Given the description of an element on the screen output the (x, y) to click on. 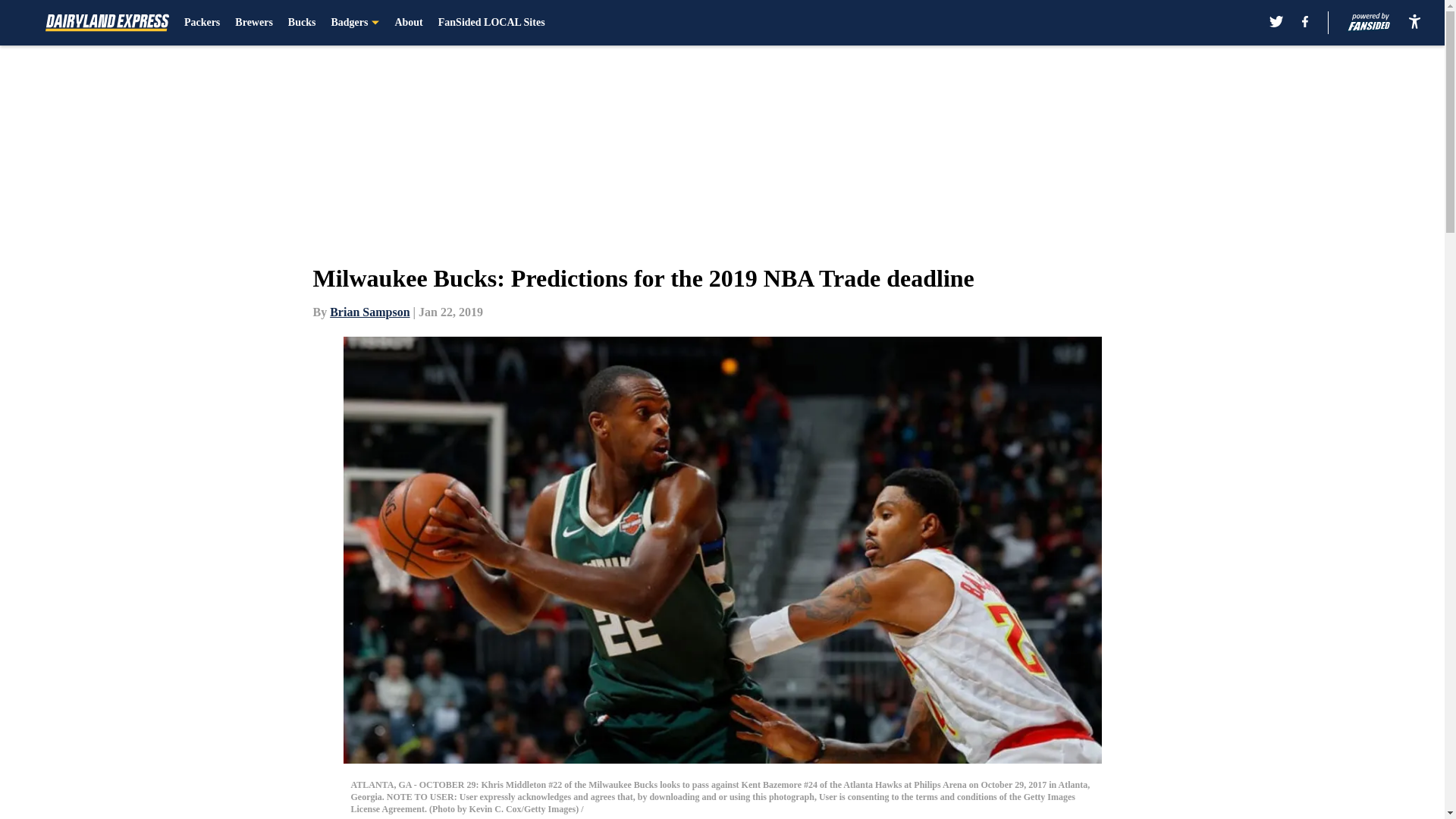
Bucks (301, 22)
Packers (201, 22)
Brian Sampson (369, 311)
About (408, 22)
FanSided LOCAL Sites (491, 22)
Brewers (253, 22)
